Given the description of an element on the screen output the (x, y) to click on. 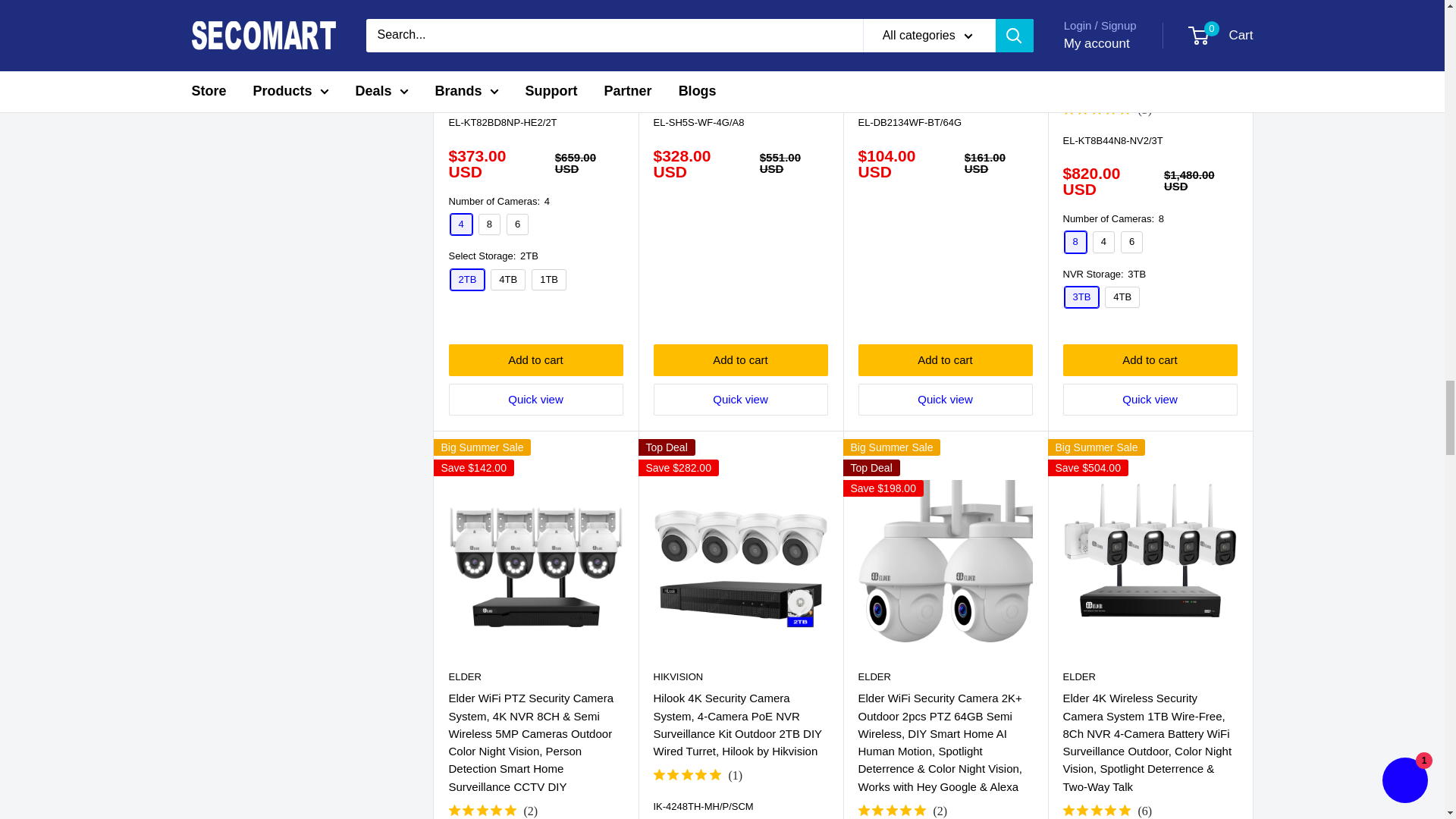
4 (460, 224)
